Given the description of an element on the screen output the (x, y) to click on. 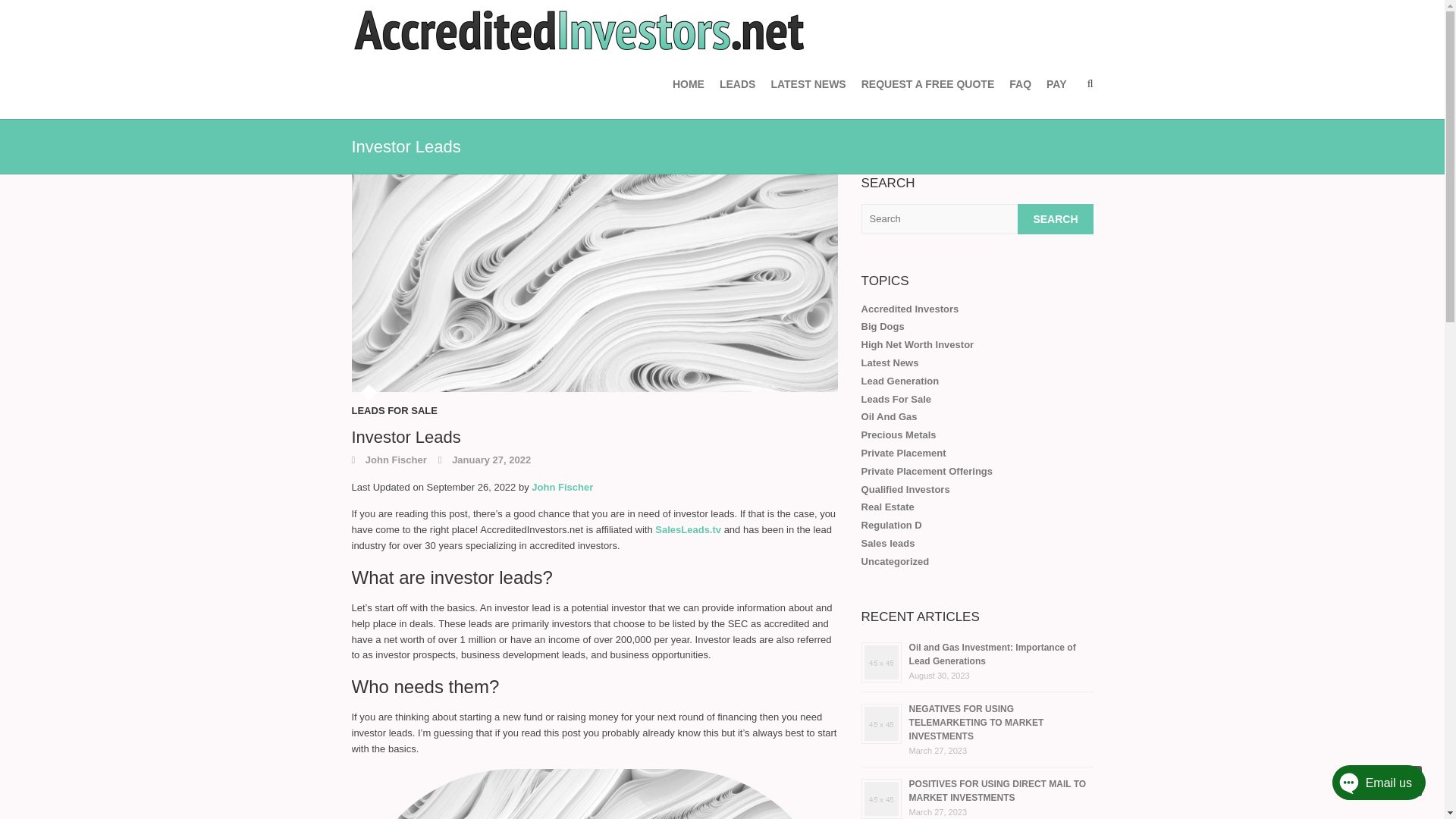
Accredited Investors (579, 30)
Email us (1363, 786)
Investor Leads (595, 283)
REQUEST A FREE QUOTE (927, 83)
January 27, 2022 (484, 460)
HOME (688, 83)
Precious Metals (898, 434)
Qualified Investors (905, 489)
1:03 pm (484, 460)
John Fischer (389, 460)
Accredited Investors (910, 308)
Oil And Gas (889, 416)
Search (1055, 218)
LEADS FOR SALE (395, 414)
High Net Worth Investor (917, 344)
